Given the description of an element on the screen output the (x, y) to click on. 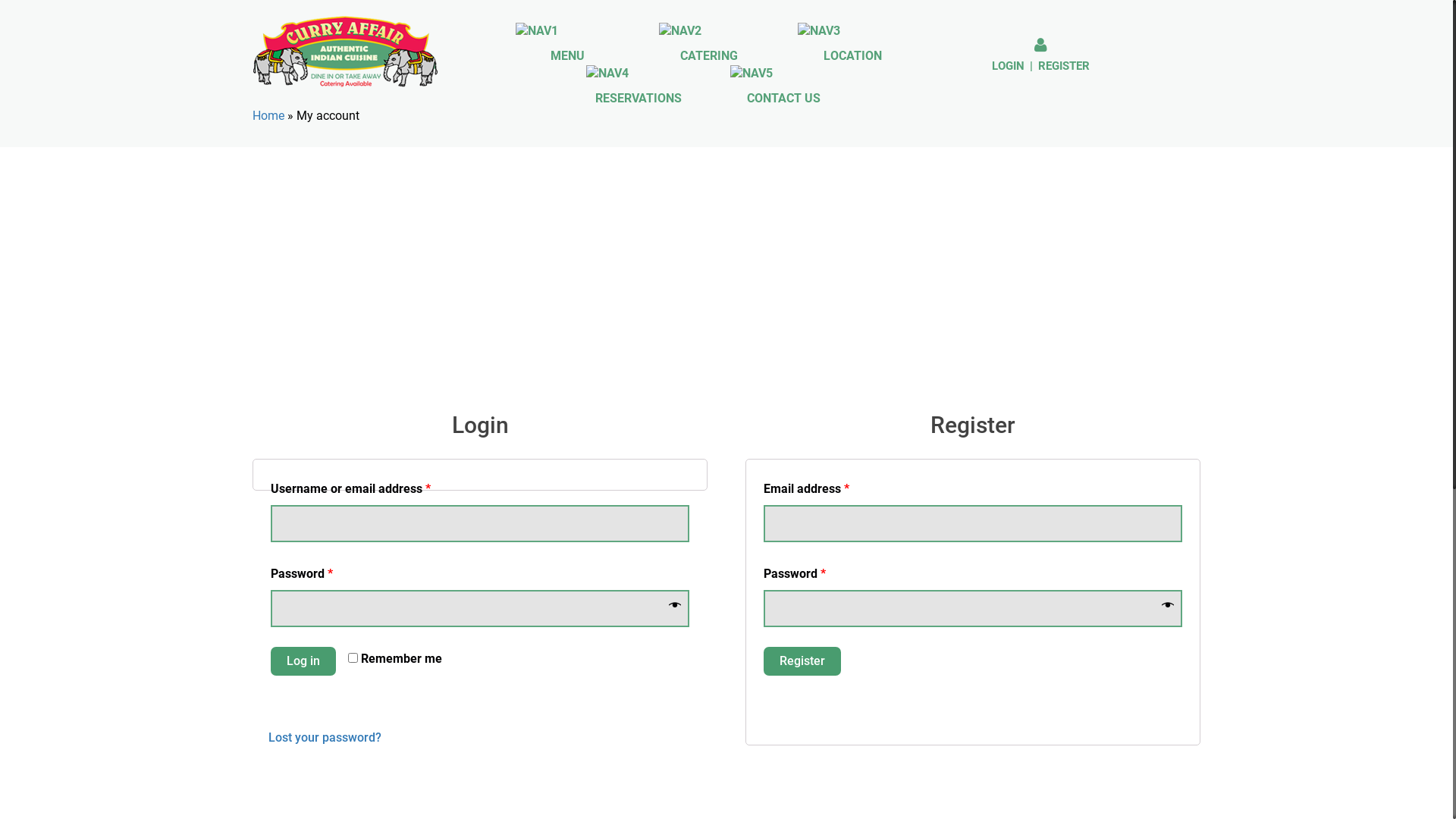
CONTACT US Element type: text (782, 86)
Log in Element type: text (302, 660)
CATERING Element type: text (708, 43)
RESERVATIONS Element type: text (637, 86)
REGISTER Element type: text (1063, 65)
MENU Element type: text (567, 43)
LOGIN| Element type: text (1013, 65)
Home Element type: text (268, 115)
LOCATION Element type: text (852, 43)
Register Element type: text (801, 660)
Lost your password? Element type: text (324, 737)
